Given the description of an element on the screen output the (x, y) to click on. 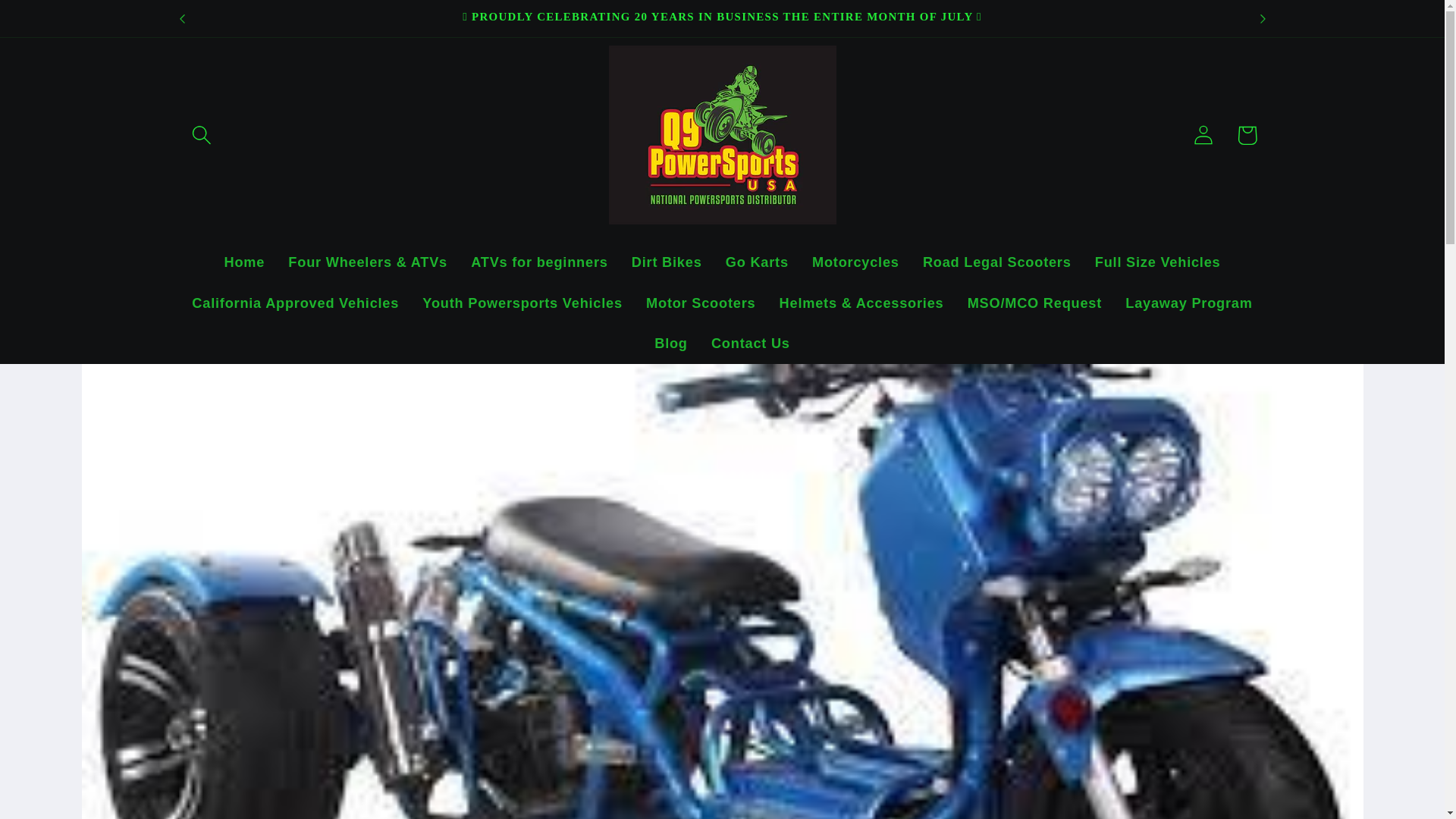
Motorcycles (855, 262)
ATVs for beginners (540, 262)
Home (244, 262)
Skip to content (59, 22)
Go Karts (756, 262)
Dirt Bikes (666, 262)
